Given the description of an element on the screen output the (x, y) to click on. 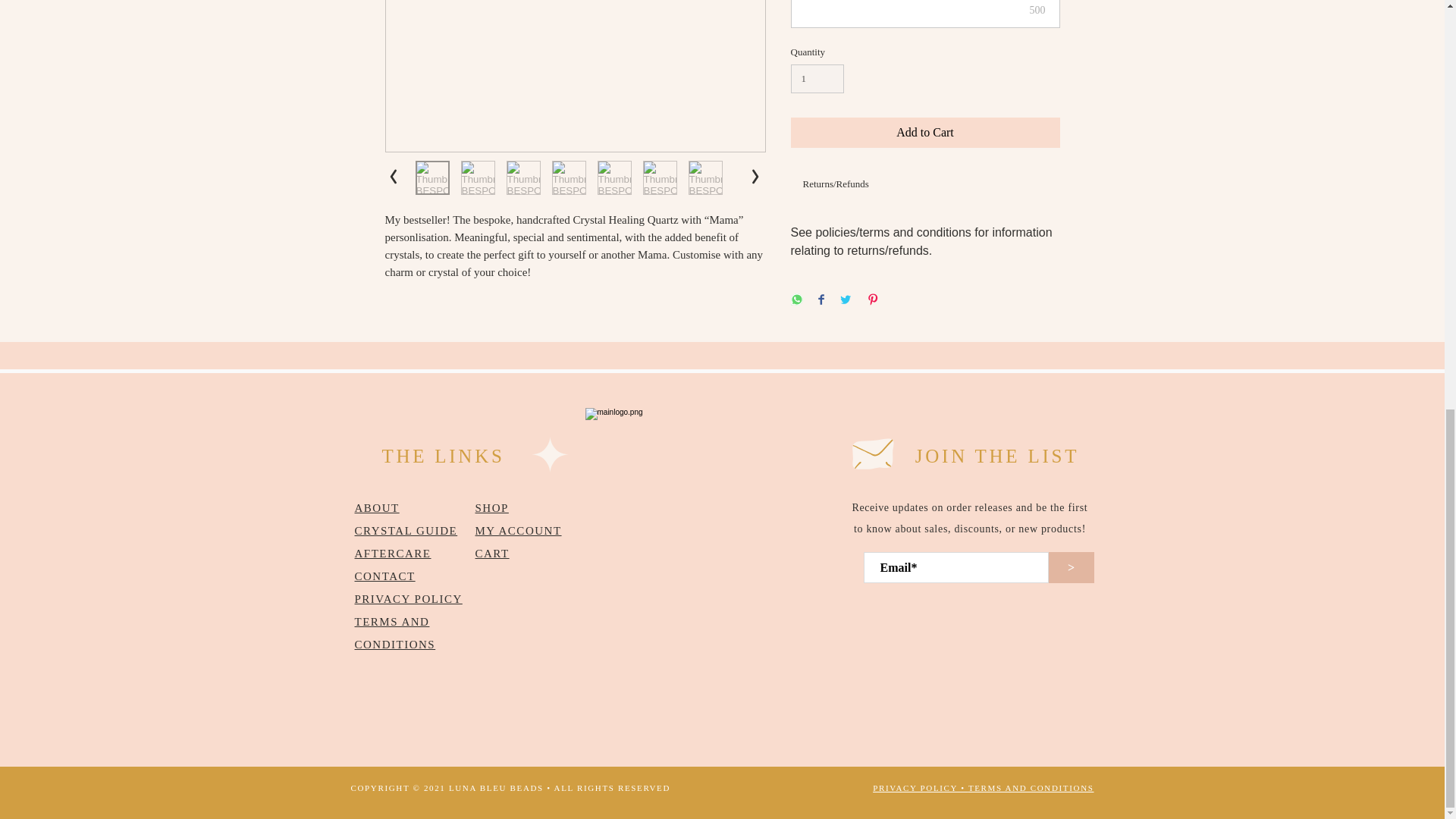
SHOP (491, 508)
Use right and left arrows to navigate between tabs (835, 185)
CONTACT (384, 576)
Add to Cart (924, 132)
PRIVACY POLICY (409, 598)
AFTERCARE (392, 553)
TERMS AND CONDITIONS (395, 632)
CRYSTAL GUIDE (406, 530)
MY ACCOUNT (517, 530)
ABOUT (376, 508)
1 (817, 78)
